Given the description of an element on the screen output the (x, y) to click on. 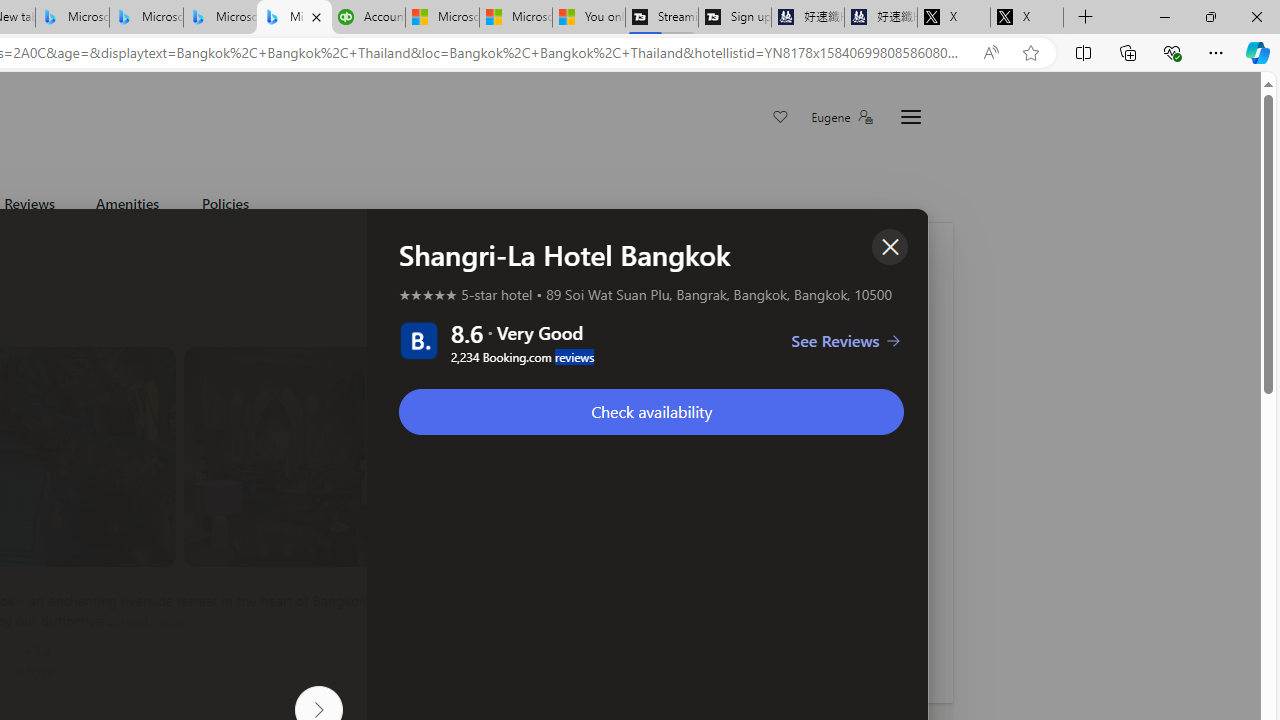
Accounting Software for Accountants, CPAs and Bookkeepers (367, 17)
Microsoft Bing Travel - Shangri-La Hotel Bangkok (294, 17)
Microsoft Bing Travel - Stays in Bangkok, Bangkok, Thailand (146, 17)
